Given the description of an element on the screen output the (x, y) to click on. 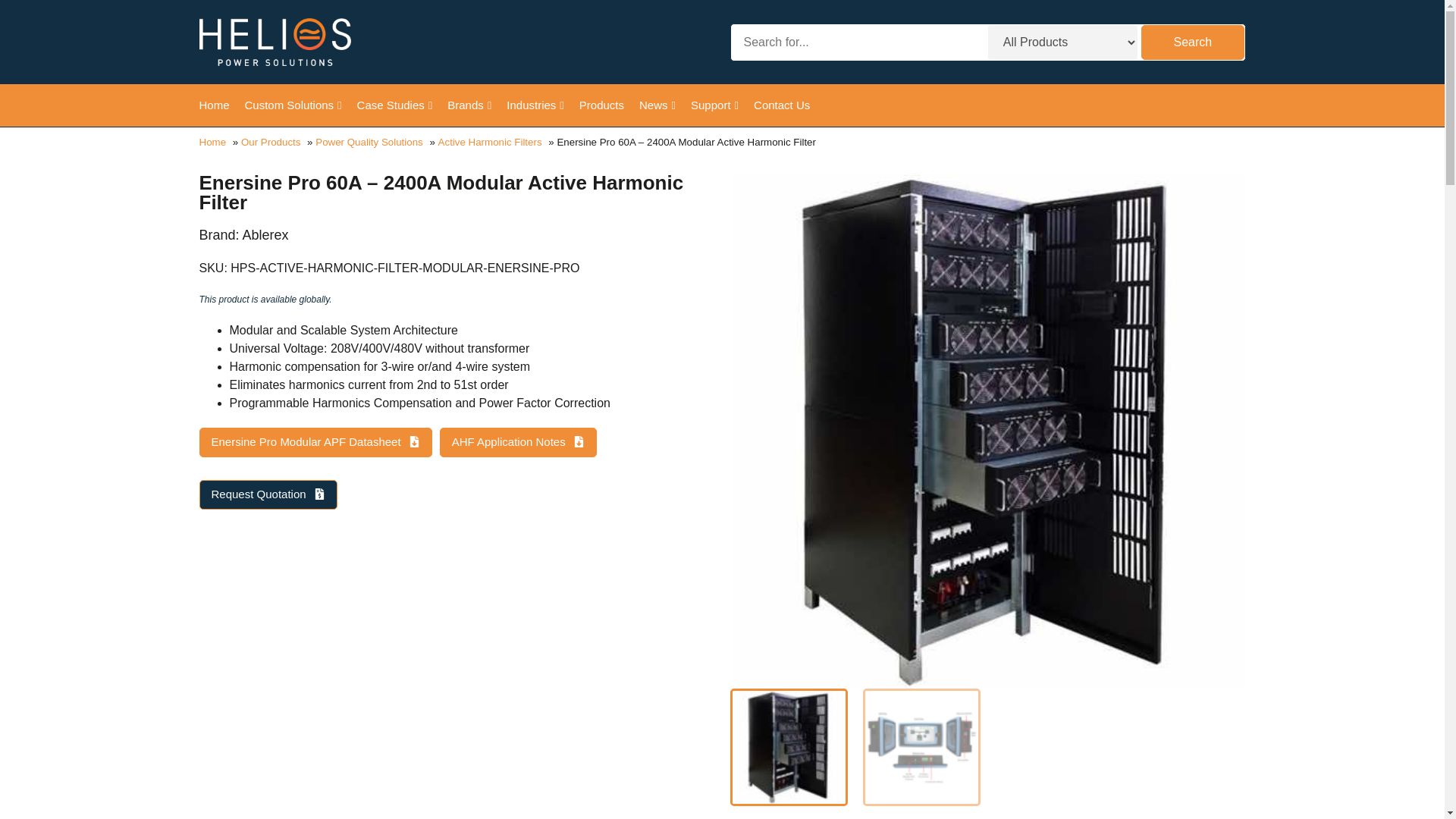
News (657, 105)
Search (1192, 42)
Brands (469, 105)
Search (1192, 42)
Case Studies (394, 105)
Search (1192, 42)
Search for: (857, 42)
Products (601, 105)
Industries (535, 105)
Custom Solutions (293, 105)
